Given the description of an element on the screen output the (x, y) to click on. 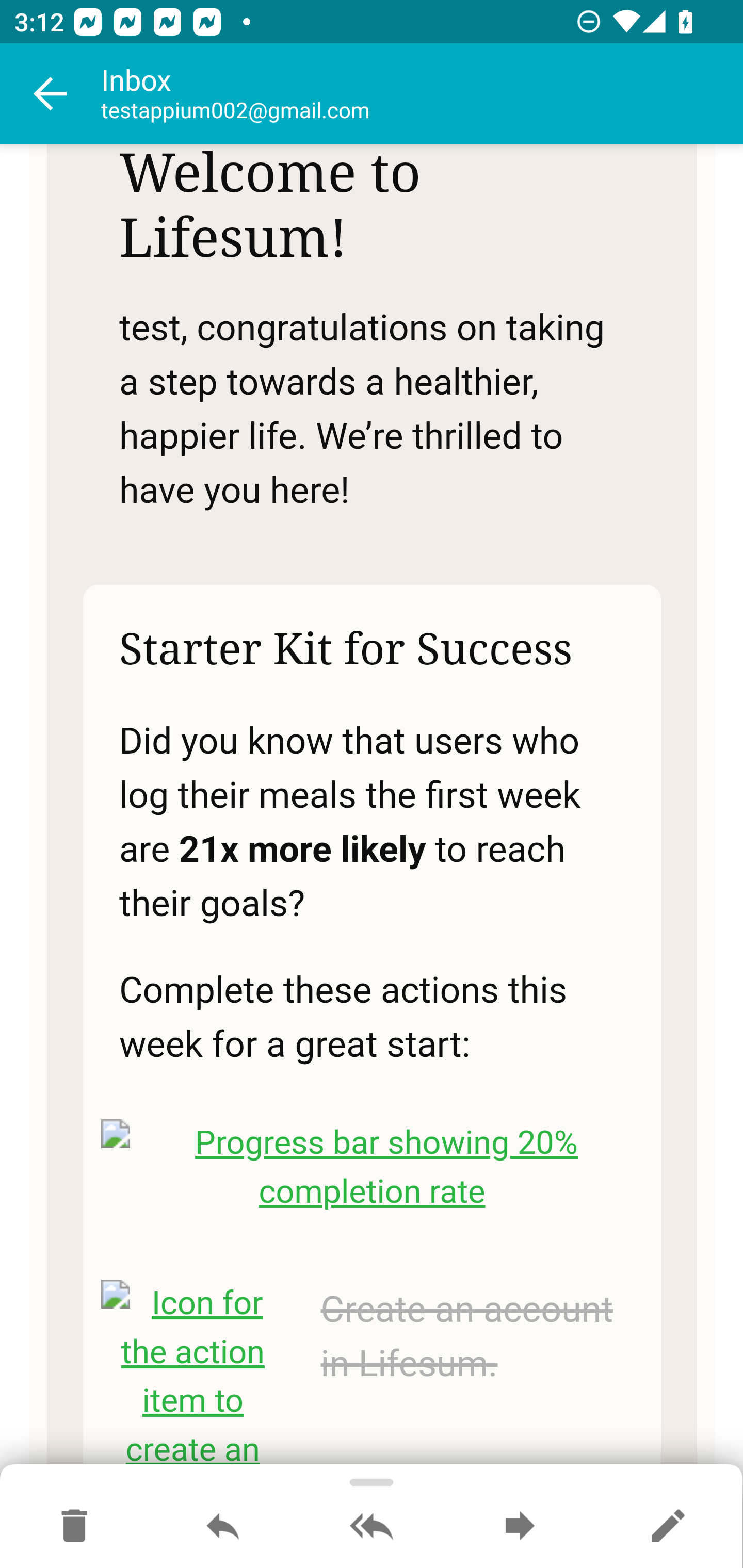
Navigate up (50, 93)
Inbox testappium002@gmail.com (422, 93)
Progress bar showing 20% completion rate (372, 1168)
Move to Deleted (74, 1527)
Reply (222, 1527)
Reply all (371, 1527)
Forward (519, 1527)
Reply as new (667, 1527)
